Given the description of an element on the screen output the (x, y) to click on. 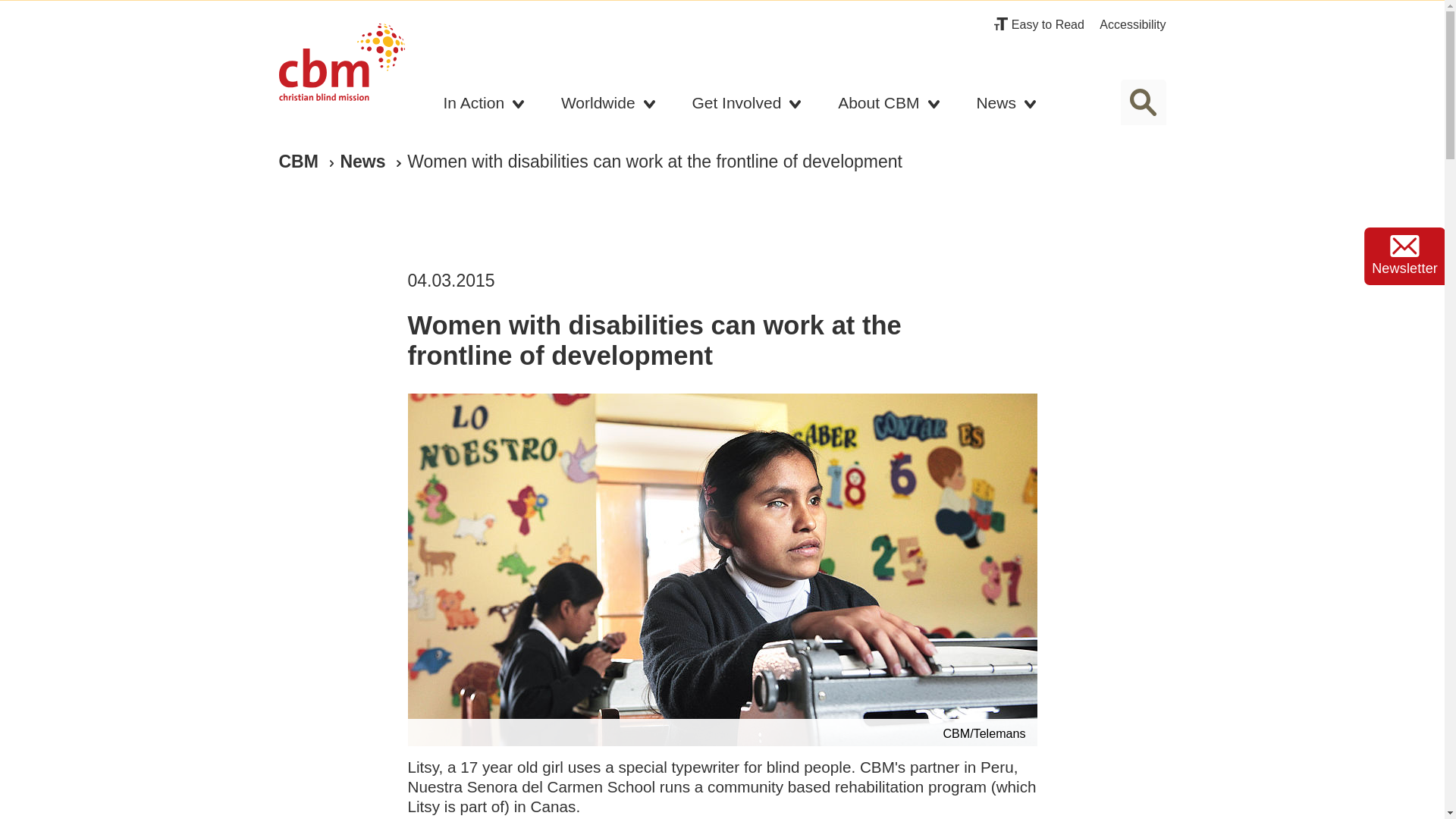
Go Back to Homepage (341, 66)
In Action (484, 106)
Accessibility (1132, 24)
News (1005, 106)
Easy to Read (1038, 24)
Get Involved (745, 106)
About CBM (888, 106)
Display search (1143, 102)
Worldwide (607, 106)
